Given the description of an element on the screen output the (x, y) to click on. 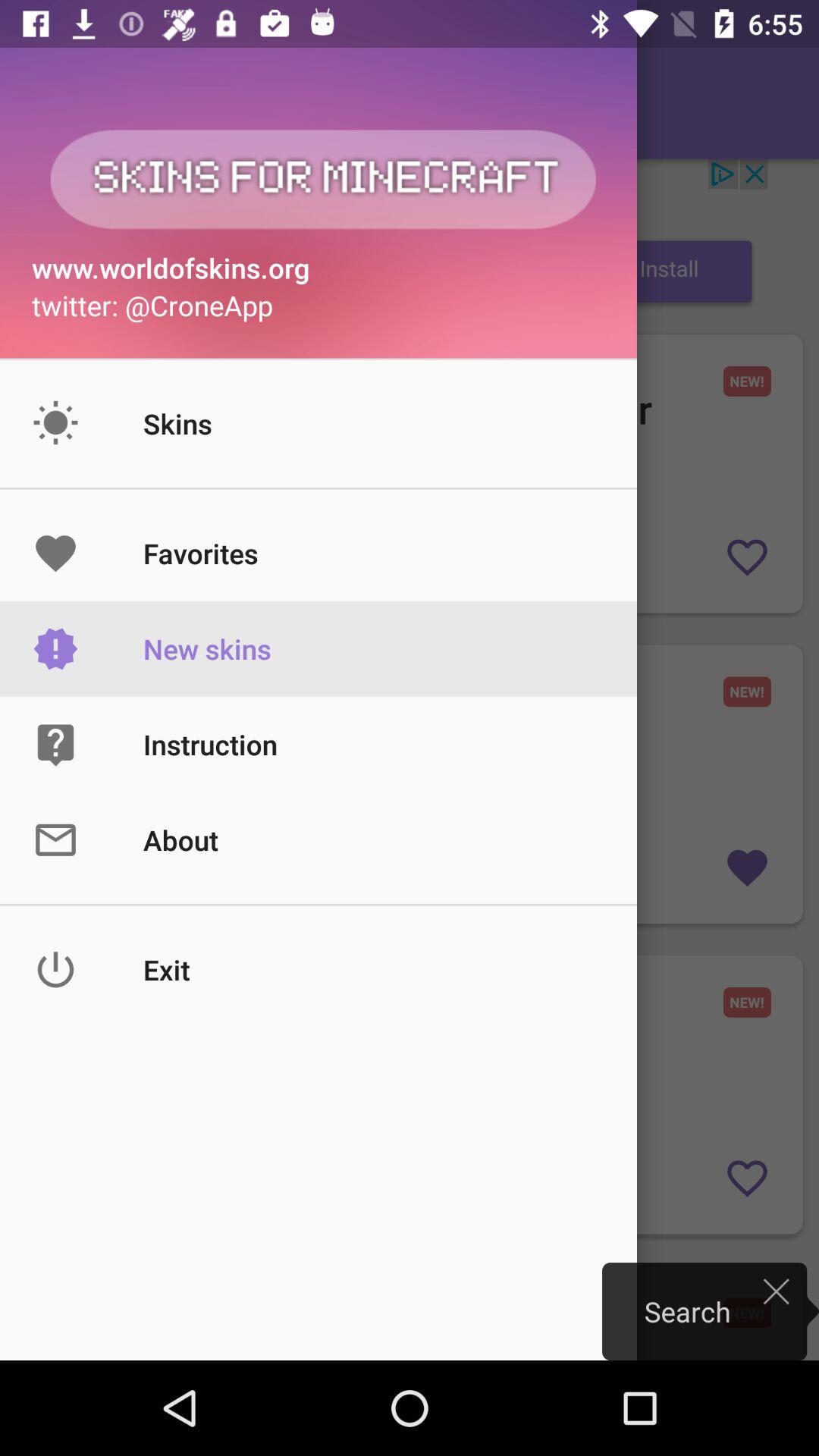
select the icon on left to the button instruction on the web page (87, 744)
